Given the description of an element on the screen output the (x, y) to click on. 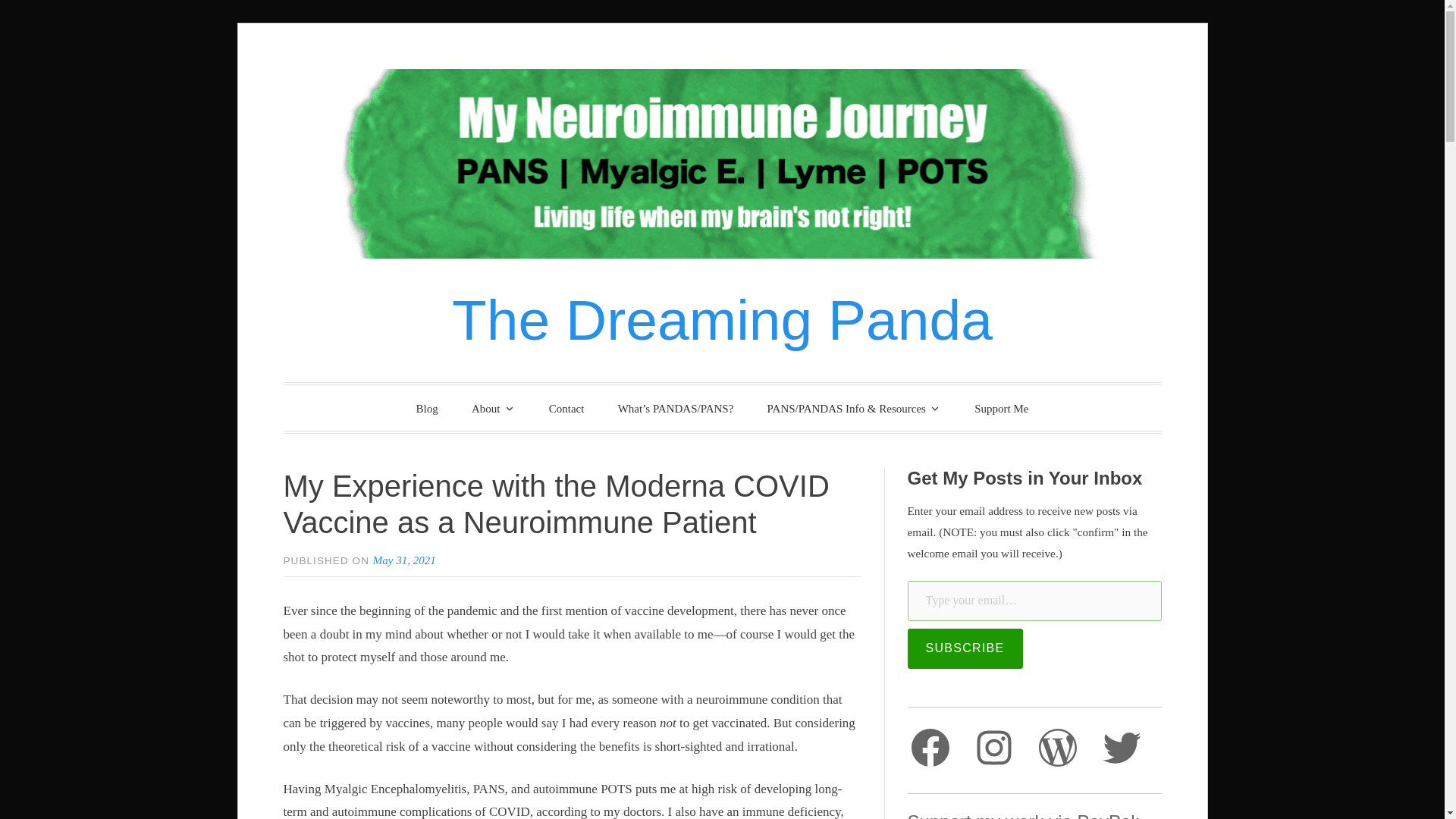
Support Me (1001, 408)
Blog (426, 408)
Contact (566, 408)
May 31, 2021 (403, 560)
Please fill in this field. (1034, 600)
The Dreaming Panda (721, 320)
About (494, 407)
